Given the description of an element on the screen output the (x, y) to click on. 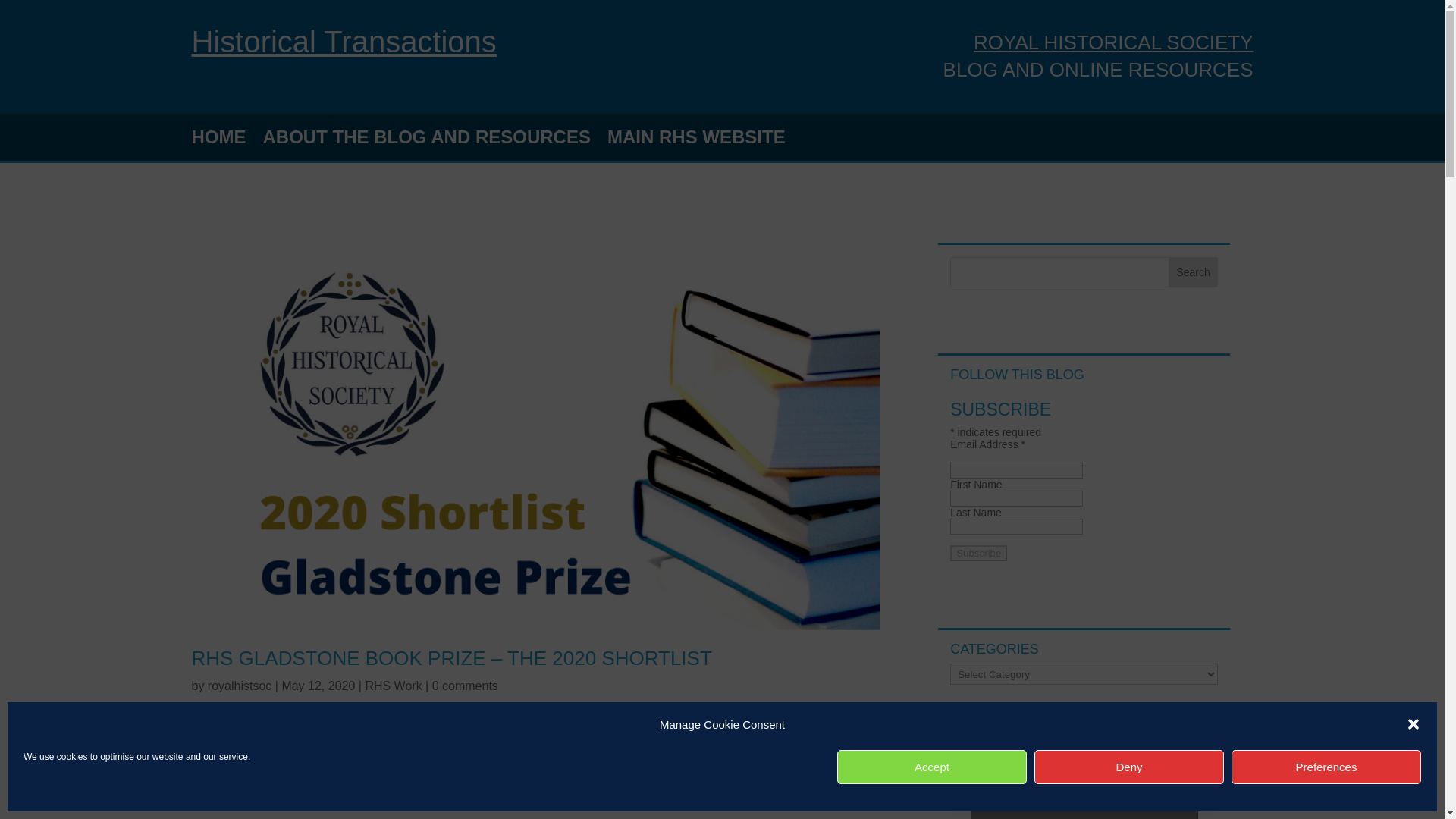
Posts by royalhistsoc (239, 685)
ROYAL HISTORICAL SOCIETY (1113, 42)
Search (1193, 272)
Subscribe (978, 553)
0 comments (464, 685)
Accept (931, 766)
ABOUT THE BLOG AND RESOURCES (425, 139)
Historical Transactions (343, 41)
royalhistsoc (239, 685)
Home (343, 41)
MAIN RHS WEBSITE (696, 139)
Deny (1128, 766)
Preferences (1326, 766)
HOME (218, 139)
